Given the description of an element on the screen output the (x, y) to click on. 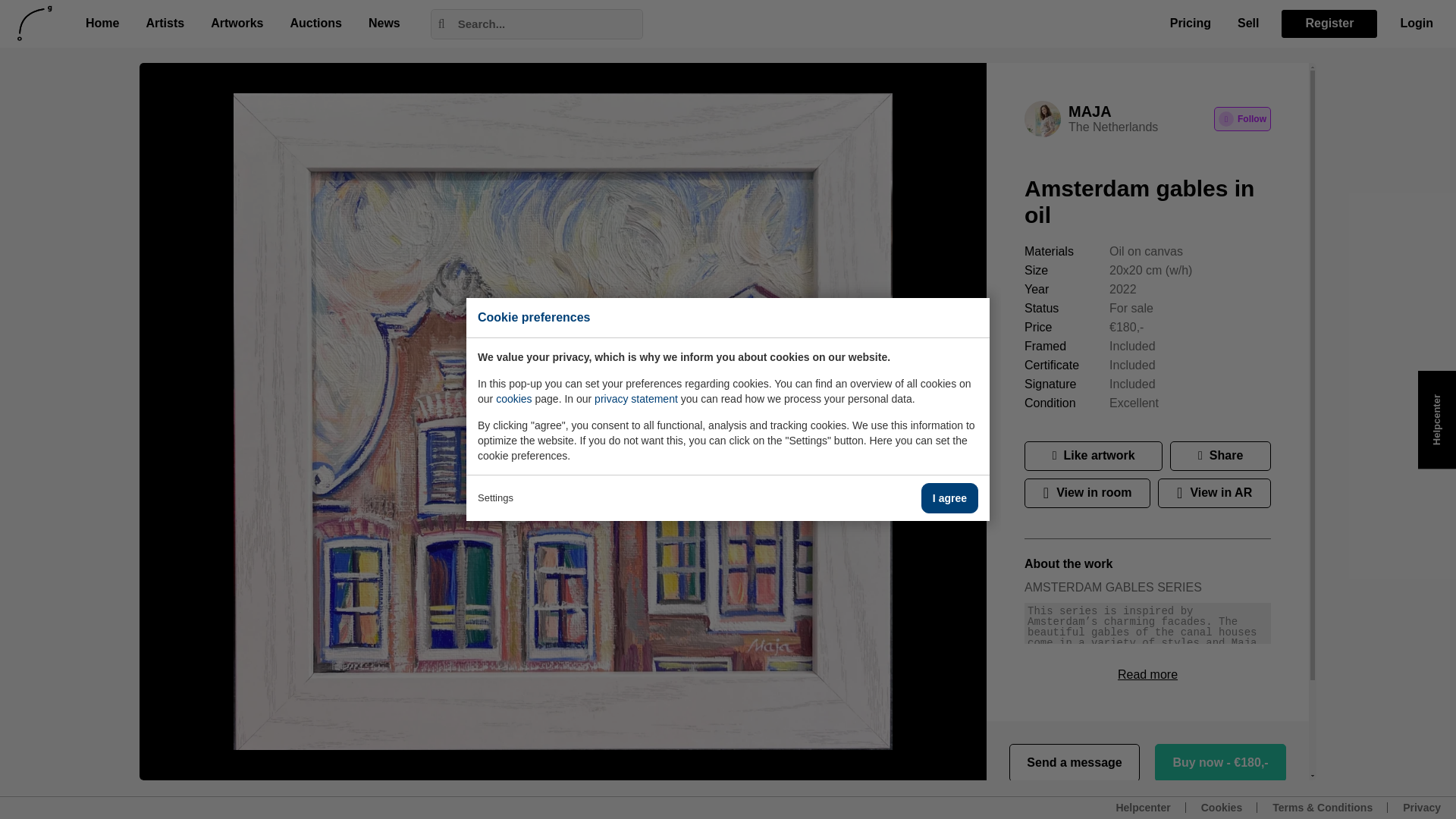
Home (102, 23)
Pricing (1189, 23)
Auctions (315, 23)
Sell (1248, 23)
Login (1416, 23)
privacy statement (636, 398)
Artists (165, 23)
Artworks (236, 23)
Register (1329, 22)
News (384, 23)
cookies (513, 398)
